Given the description of an element on the screen output the (x, y) to click on. 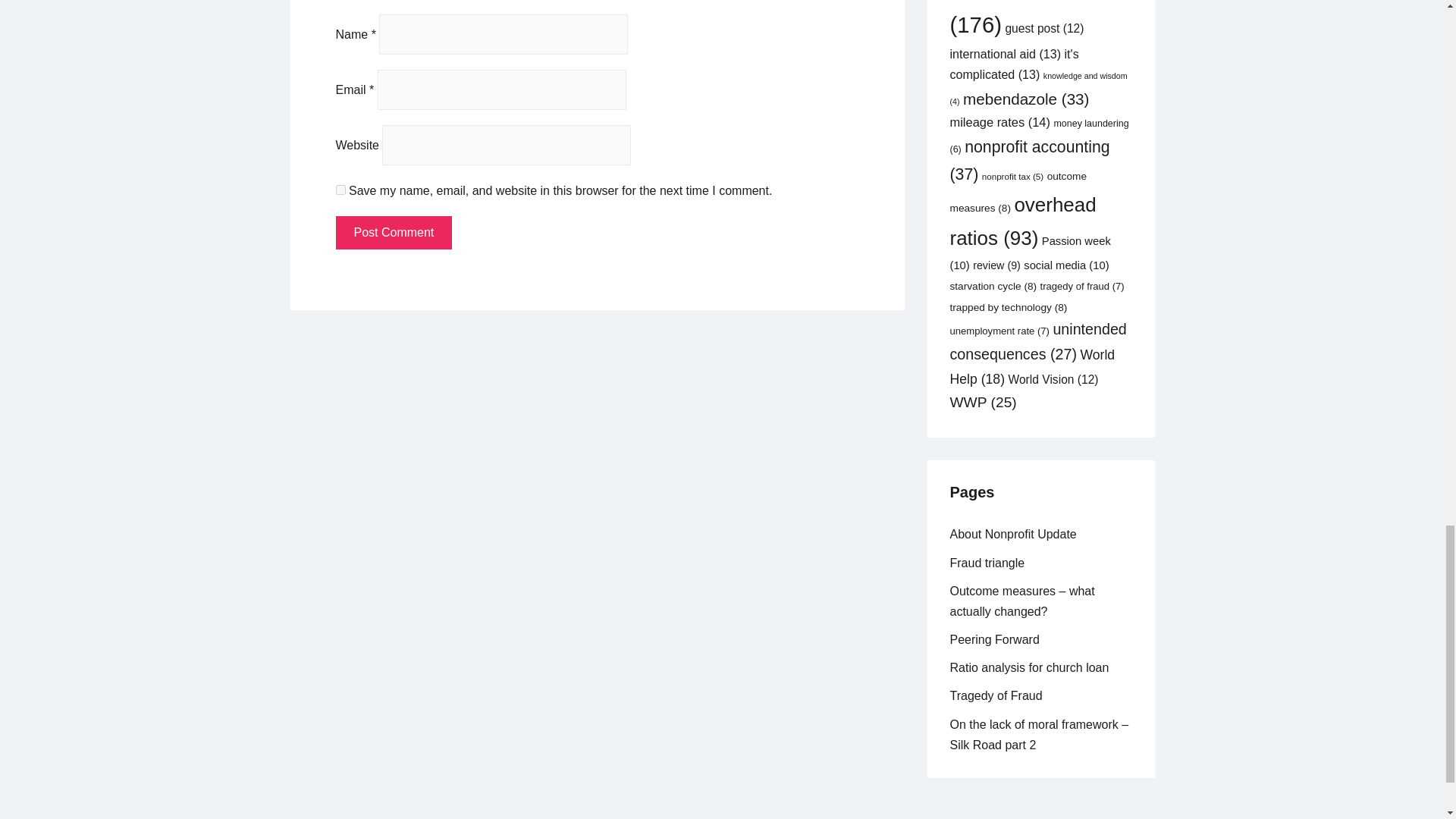
yes (339, 189)
Post Comment (392, 232)
Post Comment (392, 232)
